Given the description of an element on the screen output the (x, y) to click on. 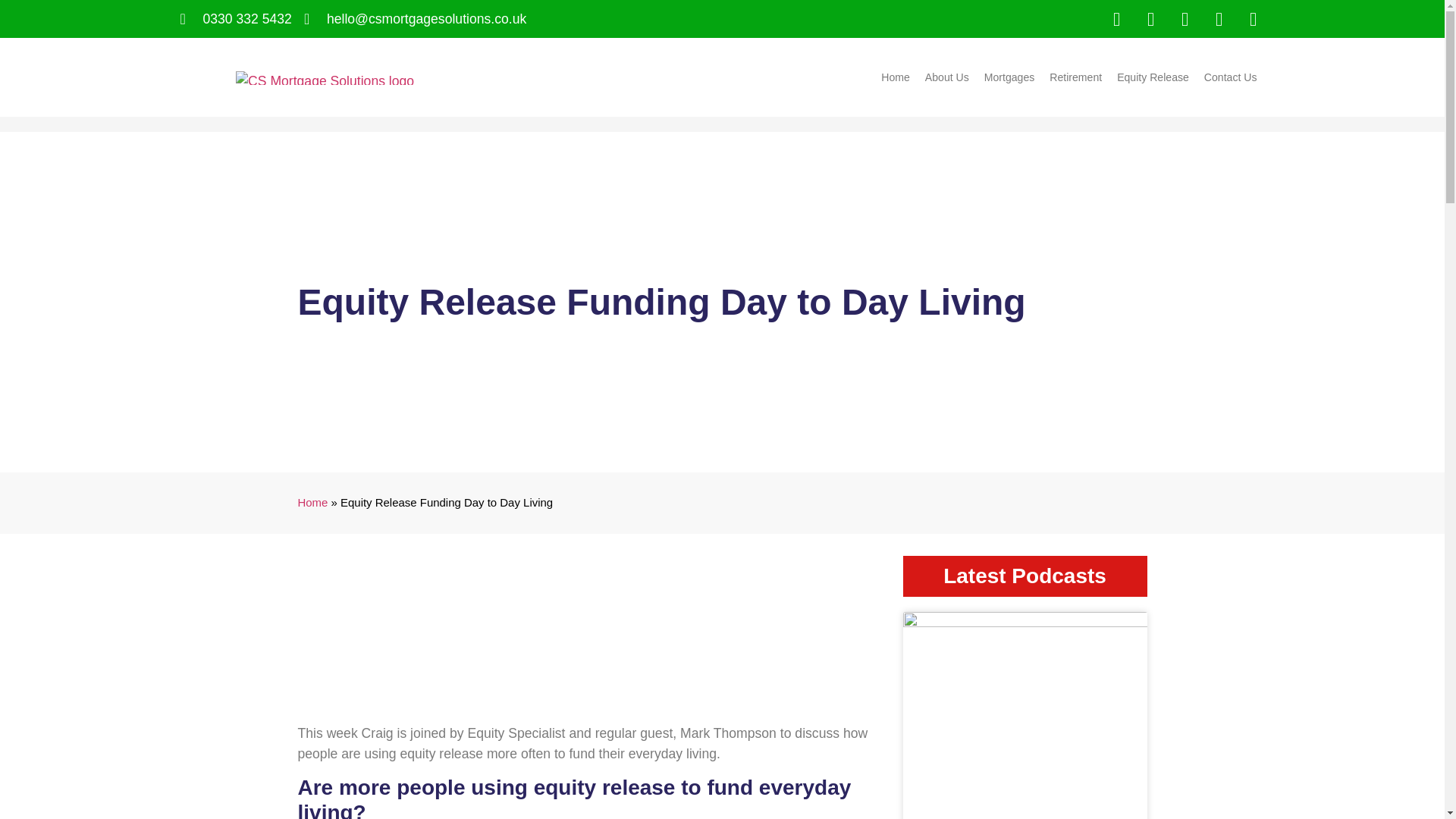
Home (895, 77)
Retirement (1075, 77)
Mortgages (1009, 77)
About Us (946, 77)
